Given the description of an element on the screen output the (x, y) to click on. 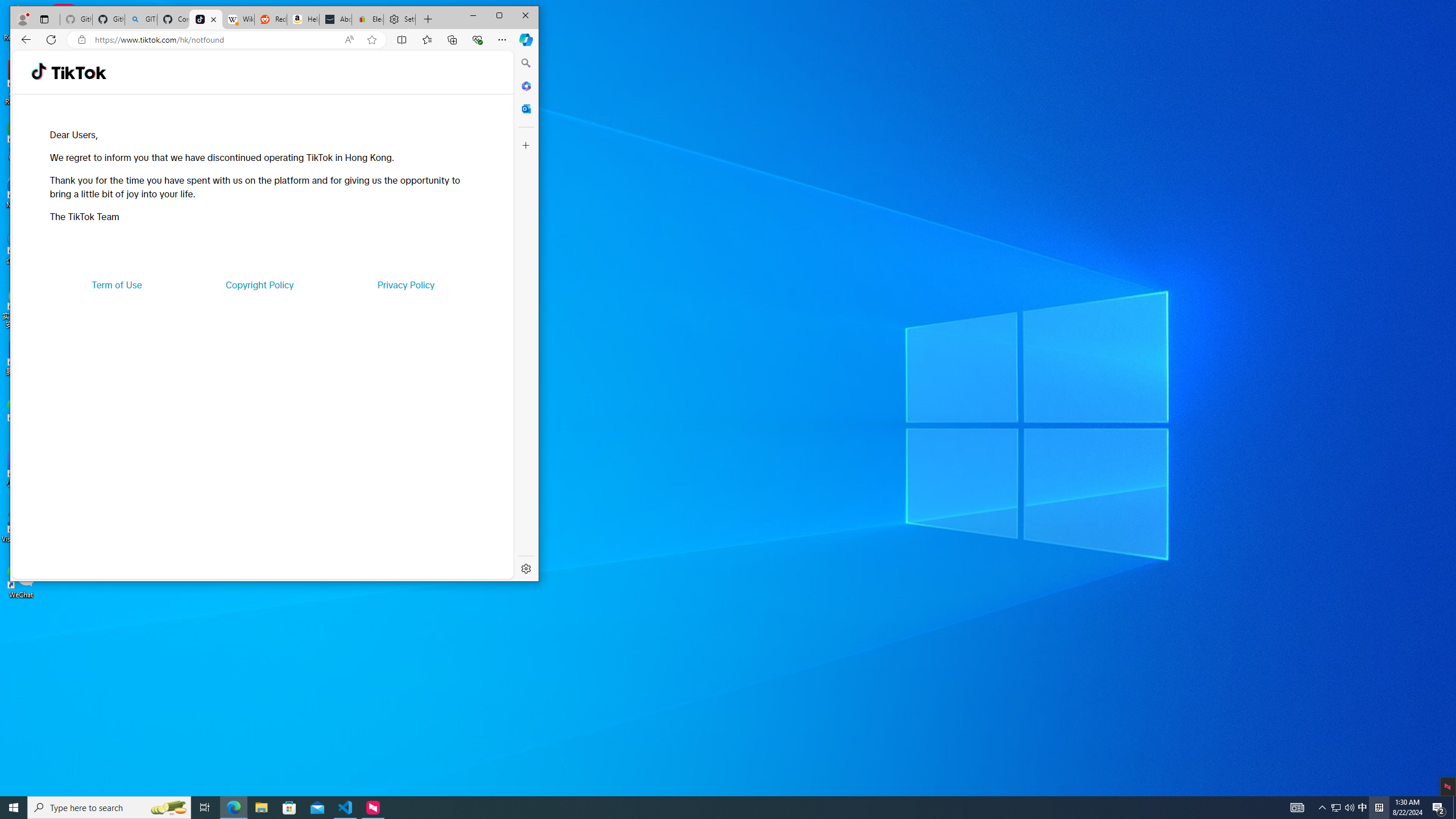
Maximize (499, 15)
Privacy Policy (405, 284)
Running applications (707, 807)
